Given the description of an element on the screen output the (x, y) to click on. 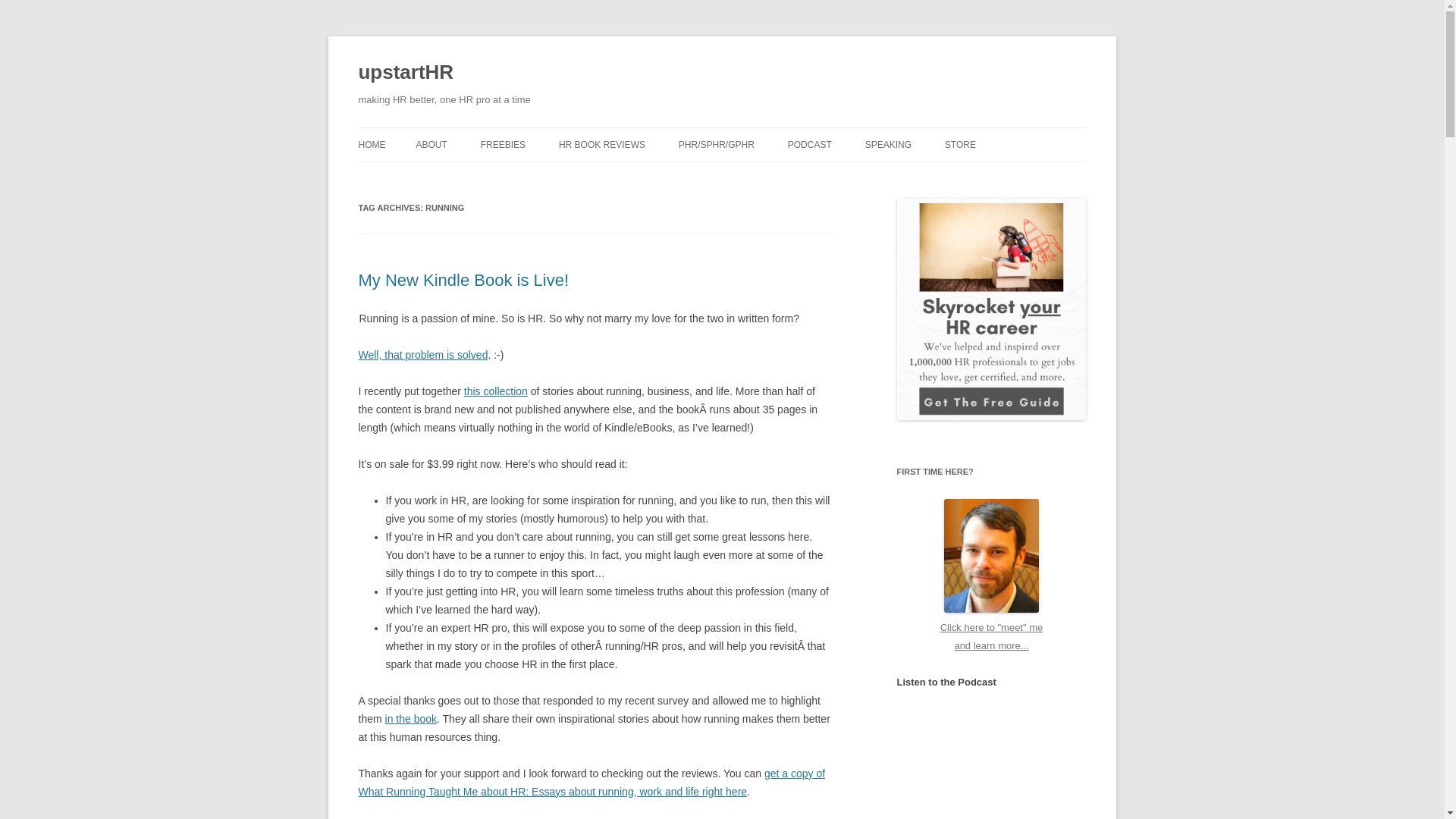
this collection (495, 390)
My New Kindle Book is Live! (463, 280)
PODCAST (809, 144)
SPEAKING (887, 144)
STORE (959, 144)
in the book (411, 718)
Well, that problem is solved (422, 354)
